Given the description of an element on the screen output the (x, y) to click on. 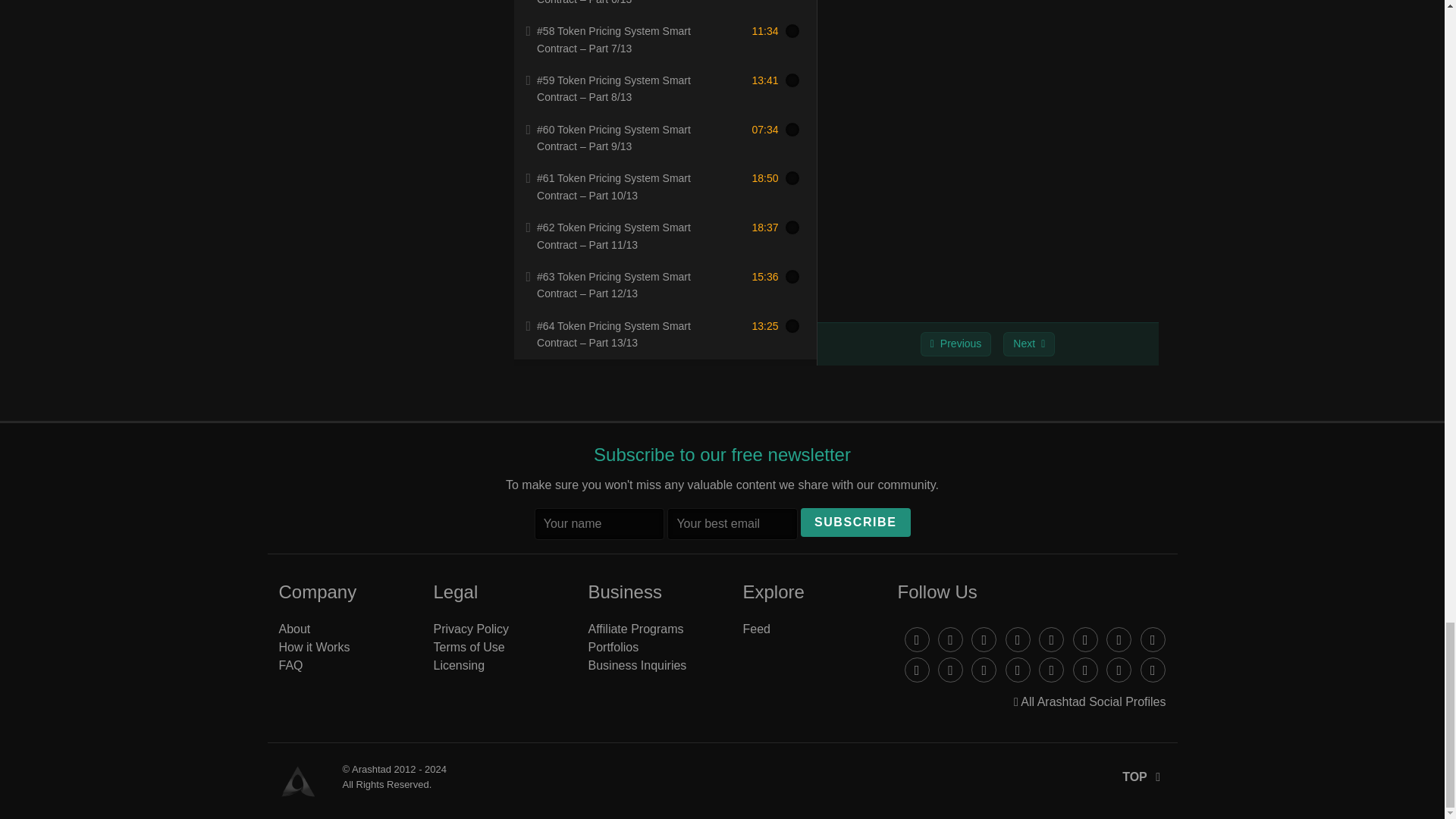
Arashtad Blog (299, 781)
Back to top (1144, 776)
